Given the description of an element on the screen output the (x, y) to click on. 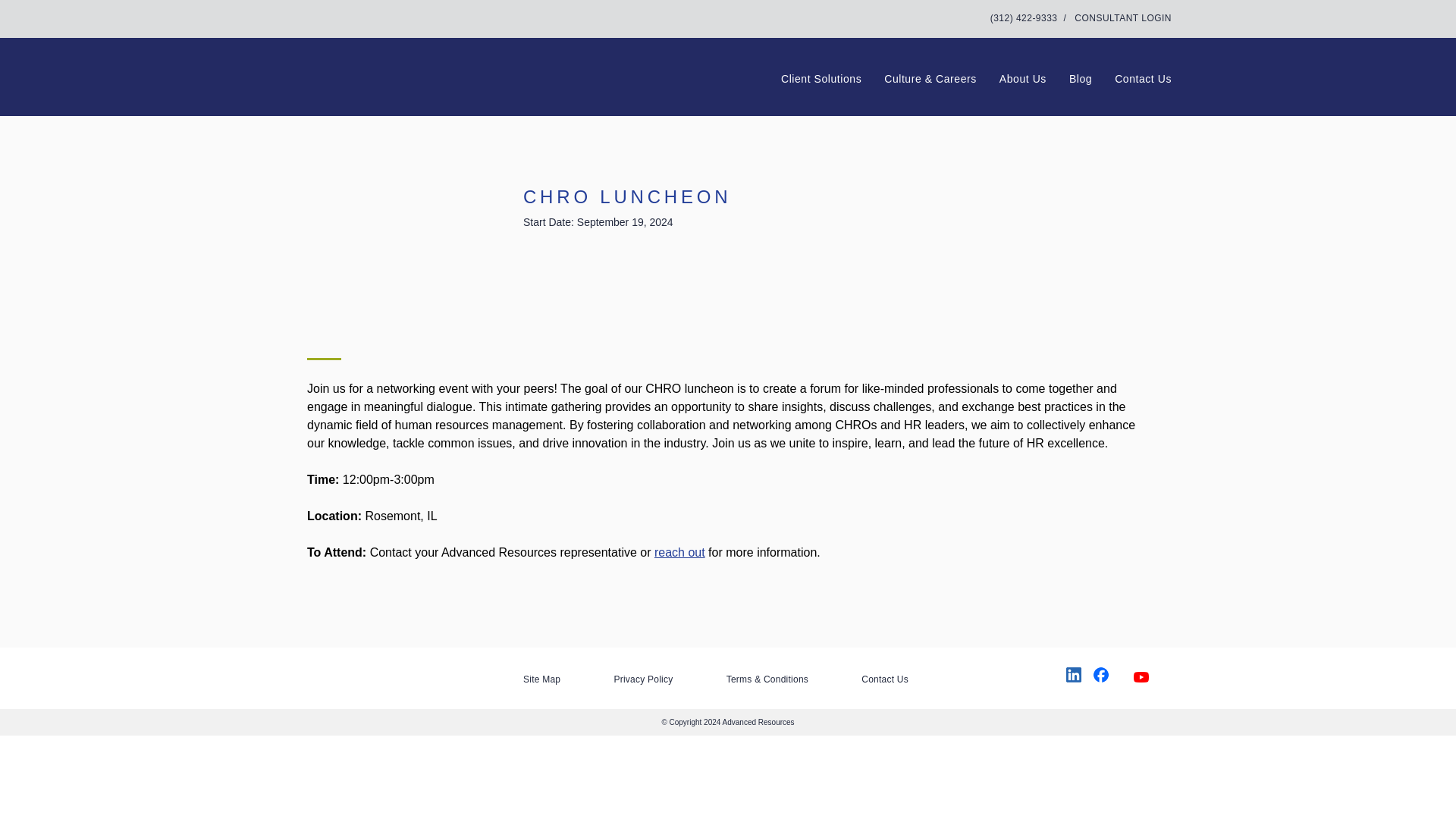
Privacy Policy (642, 679)
Contact Us (1143, 78)
About Us (1022, 78)
Client Solutions (820, 78)
Contact Us (884, 679)
Site Map (541, 679)
Blog (1080, 78)
reach out (678, 552)
Advanced Resources (403, 66)
CONSULTANT LOGIN (1123, 18)
